Given the description of an element on the screen output the (x, y) to click on. 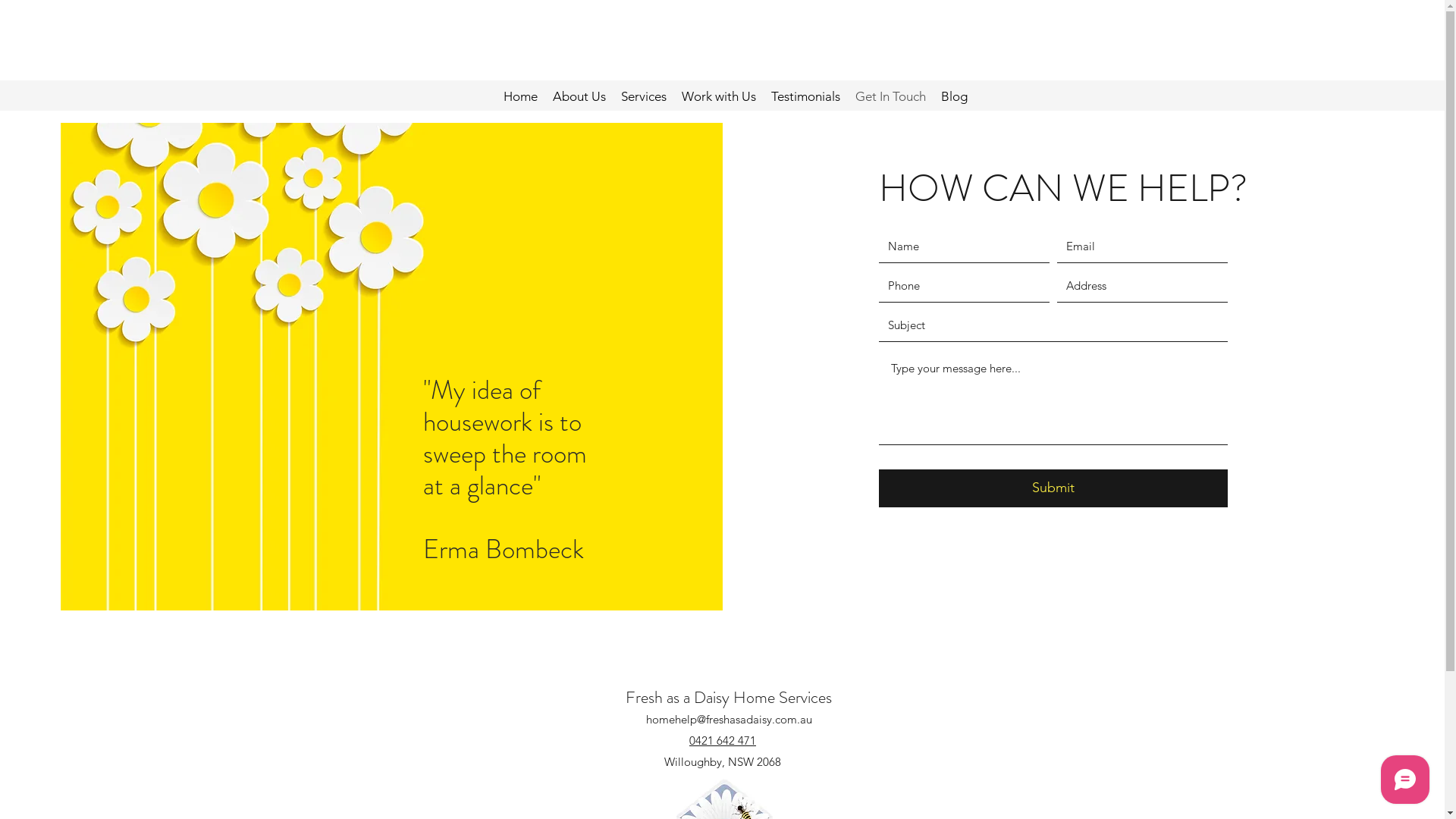
Services Element type: text (643, 95)
Blog Element type: text (954, 95)
Get In Touch Element type: text (890, 95)
About Us Element type: text (579, 95)
0421 642 471 Element type: text (722, 740)
Work with Us Element type: text (718, 95)
Fresh as a Daisy Home Services Element type: text (727, 697)
Home Element type: text (520, 95)
homehelp@freshasadaisy.com.au Element type: text (729, 719)
Submit Element type: text (1052, 488)
Testimonials Element type: text (805, 95)
